Given the description of an element on the screen output the (x, y) to click on. 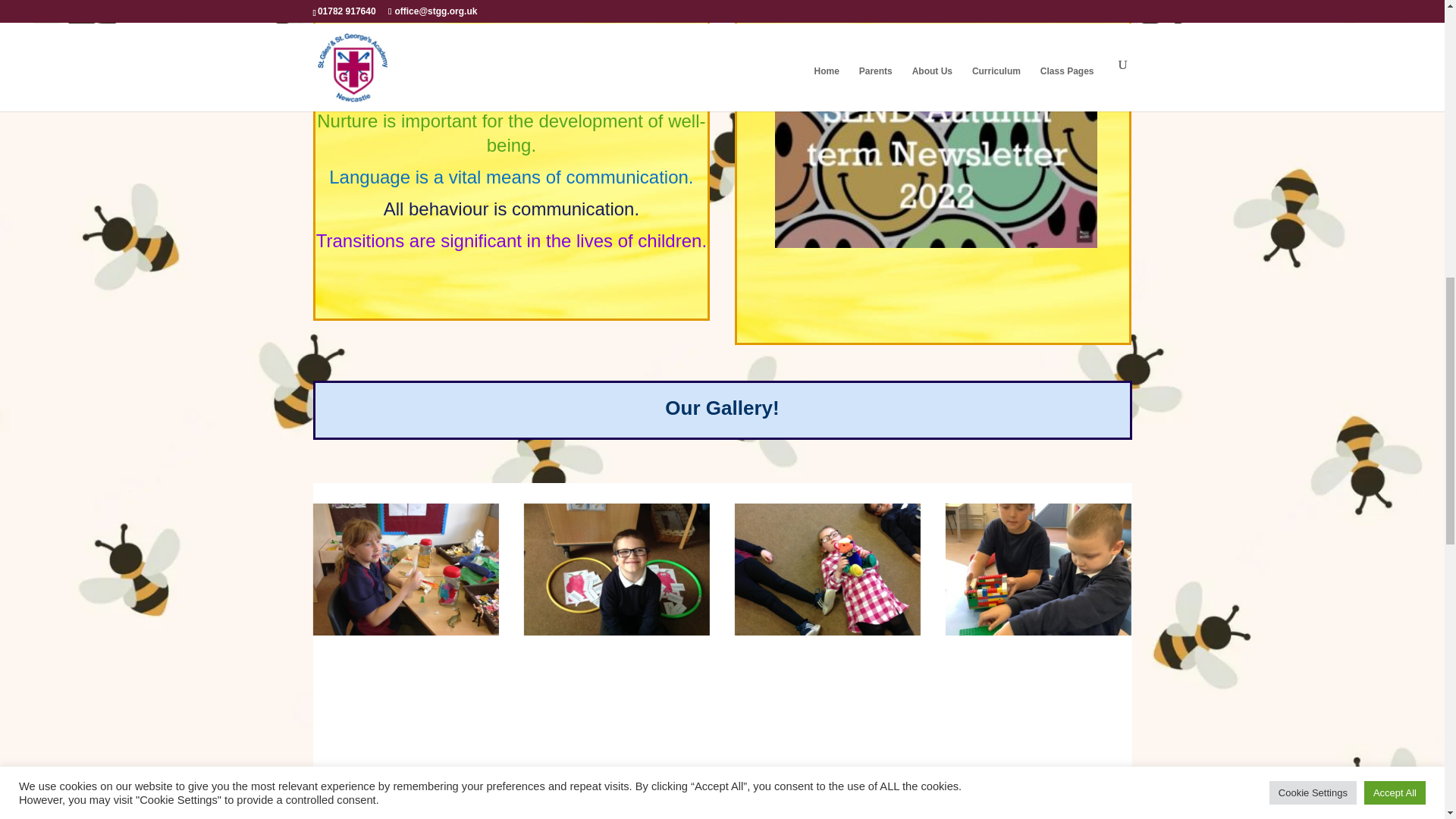
Teddy breathing (828, 631)
Positivity jars (406, 631)
Understanding feelings (617, 631)
